Given the description of an element on the screen output the (x, y) to click on. 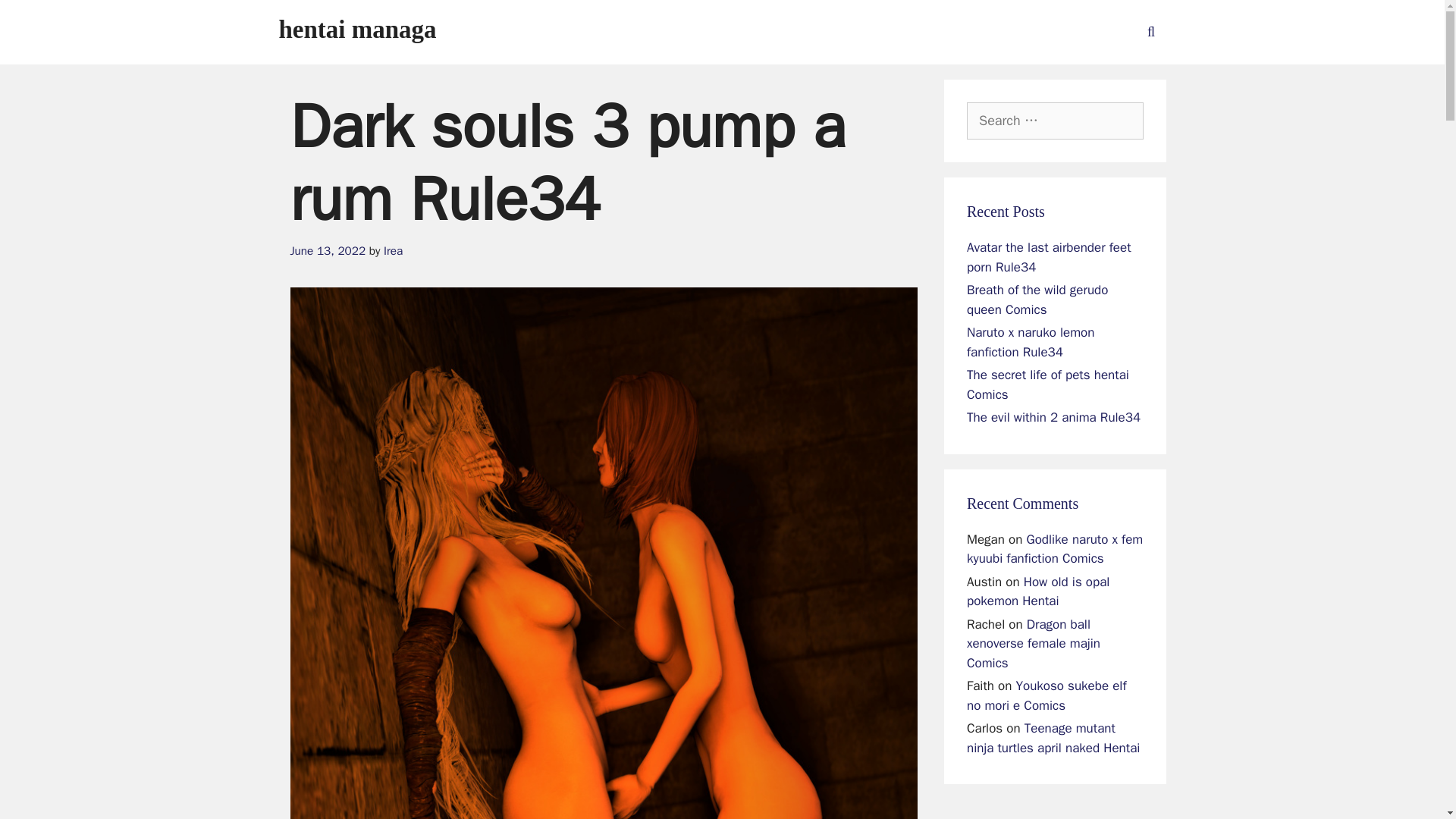
Naruto x naruko lemon fanfiction Rule34 (1030, 342)
Godlike naruto x fem kyuubi fanfiction Comics (1054, 548)
Teenage mutant ninja turtles april naked Hentai (1053, 737)
Youkoso sukebe elf no mori e Comics (1046, 695)
hentai managa (357, 29)
9:04 pm (327, 250)
How old is opal pokemon Hentai (1037, 591)
Search (35, 18)
Breath of the wild gerudo queen Comics (1037, 299)
View all posts by Irea (393, 250)
June 13, 2022 (327, 250)
Irea (393, 250)
Dragon ball xenoverse female majin Comics (1033, 642)
The secret life of pets hentai Comics (1047, 384)
Search for: (1054, 120)
